Given the description of an element on the screen output the (x, y) to click on. 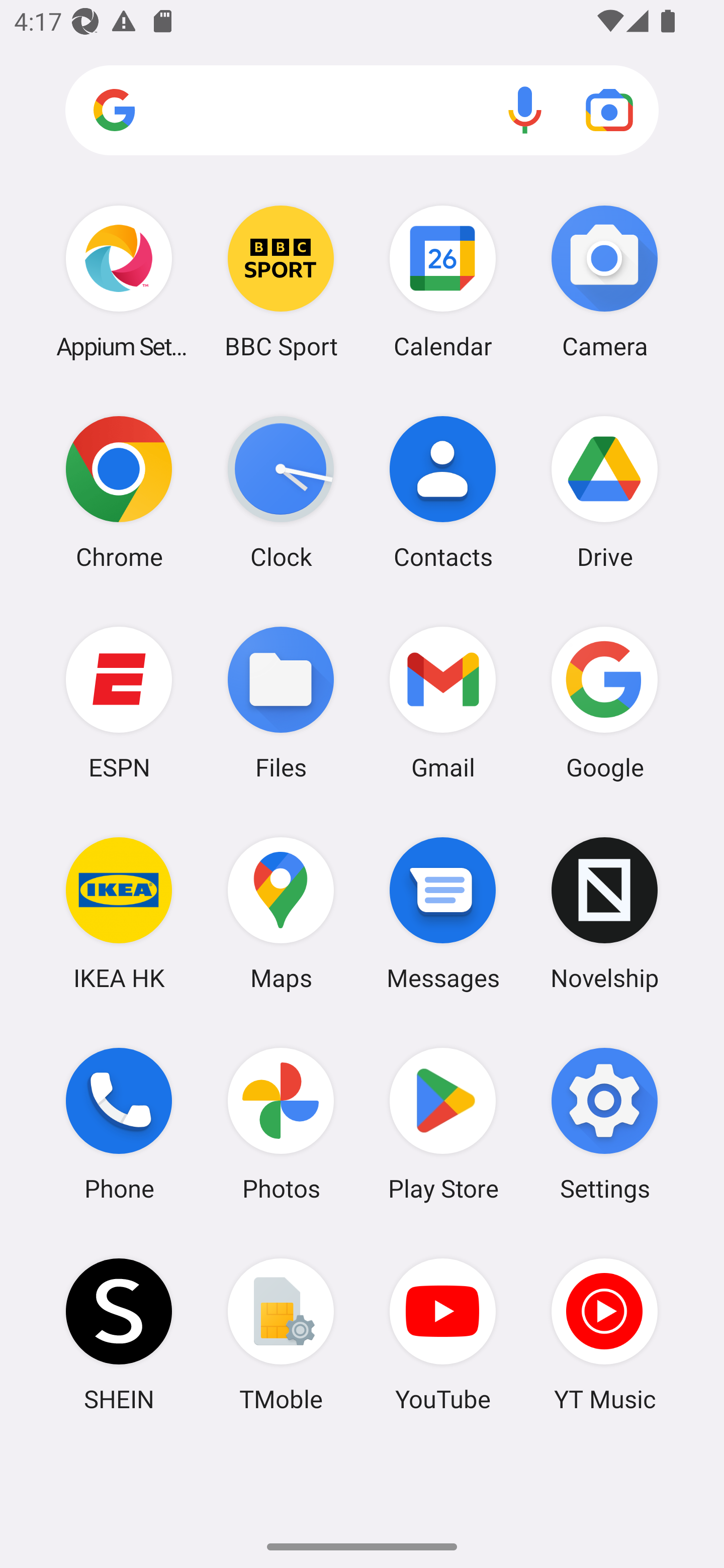
Search apps, web and more (361, 110)
Voice search (524, 109)
Google Lens (608, 109)
Appium Settings (118, 281)
BBC Sport (280, 281)
Calendar (443, 281)
Camera (604, 281)
Chrome (118, 492)
Clock (280, 492)
Contacts (443, 492)
Drive (604, 492)
ESPN (118, 702)
Files (280, 702)
Gmail (443, 702)
Google (604, 702)
IKEA HK (118, 913)
Maps (280, 913)
Messages (443, 913)
Novelship (604, 913)
Phone (118, 1124)
Photos (280, 1124)
Play Store (443, 1124)
Settings (604, 1124)
SHEIN (118, 1334)
TMoble (280, 1334)
YouTube (443, 1334)
YT Music (604, 1334)
